Given the description of an element on the screen output the (x, y) to click on. 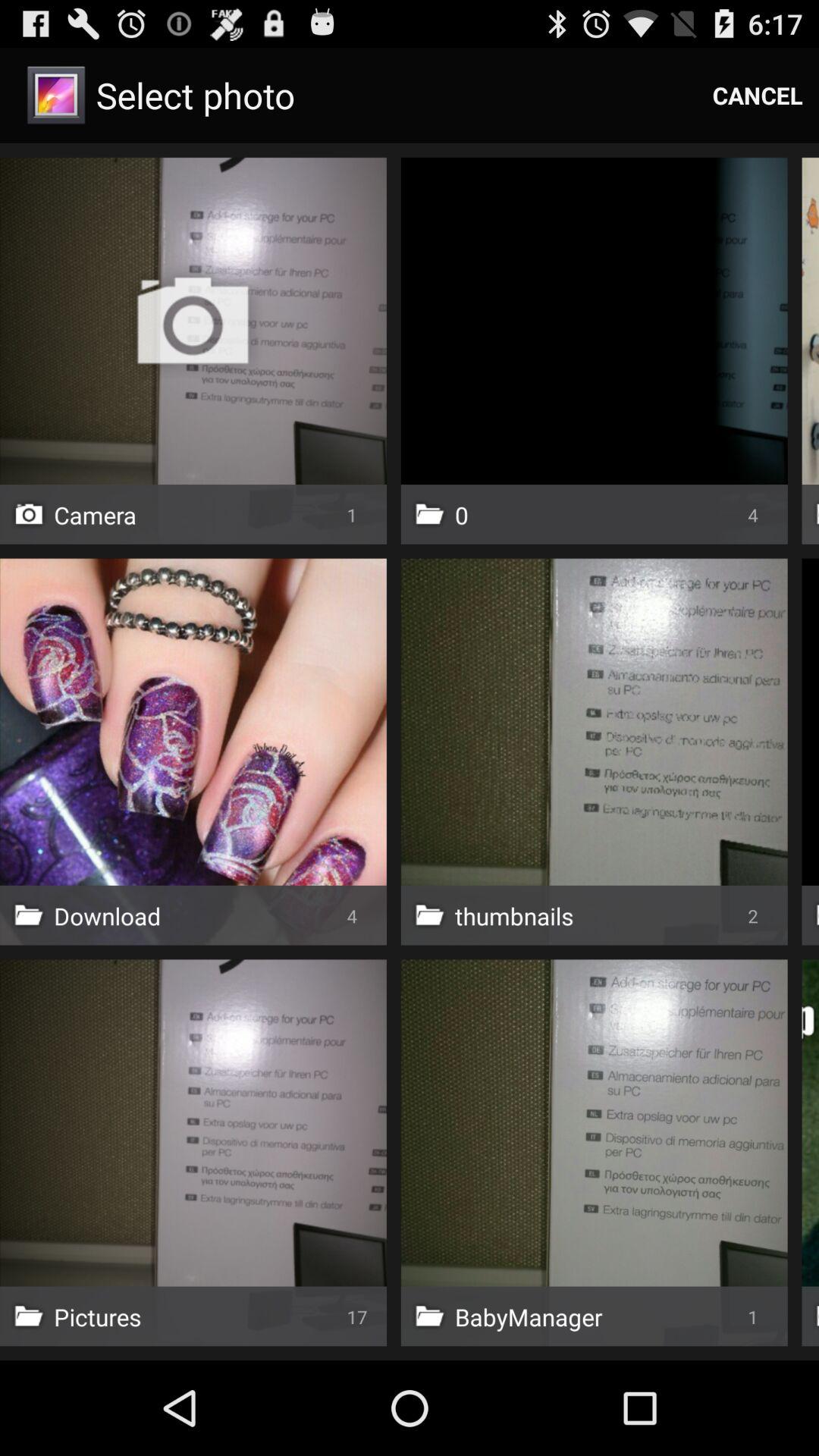
tap the item to the right of the select photo app (757, 95)
